Given the description of an element on the screen output the (x, y) to click on. 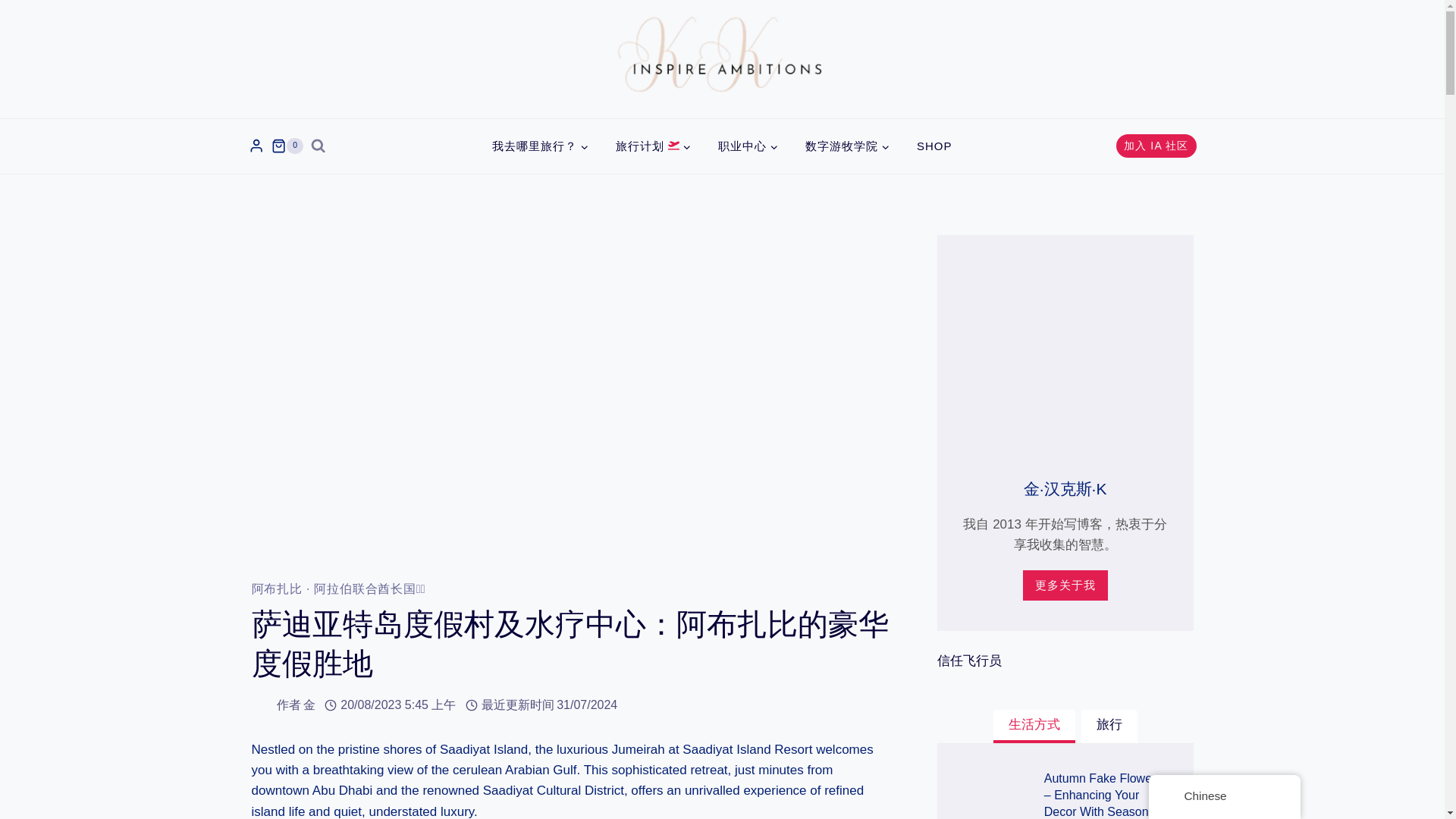
0 (286, 146)
